Given the description of an element on the screen output the (x, y) to click on. 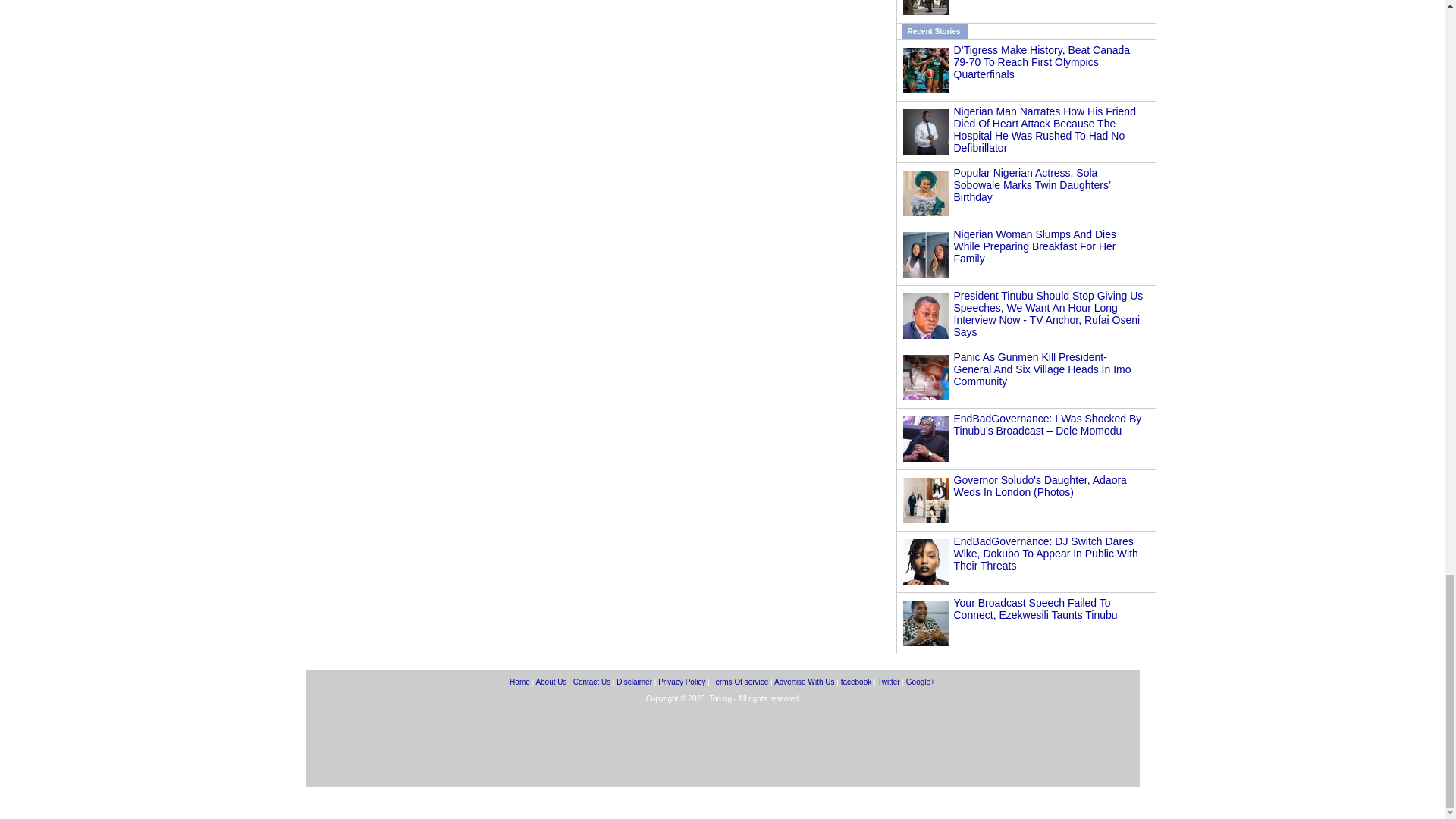
Advertisement (721, 753)
